Given the description of an element on the screen output the (x, y) to click on. 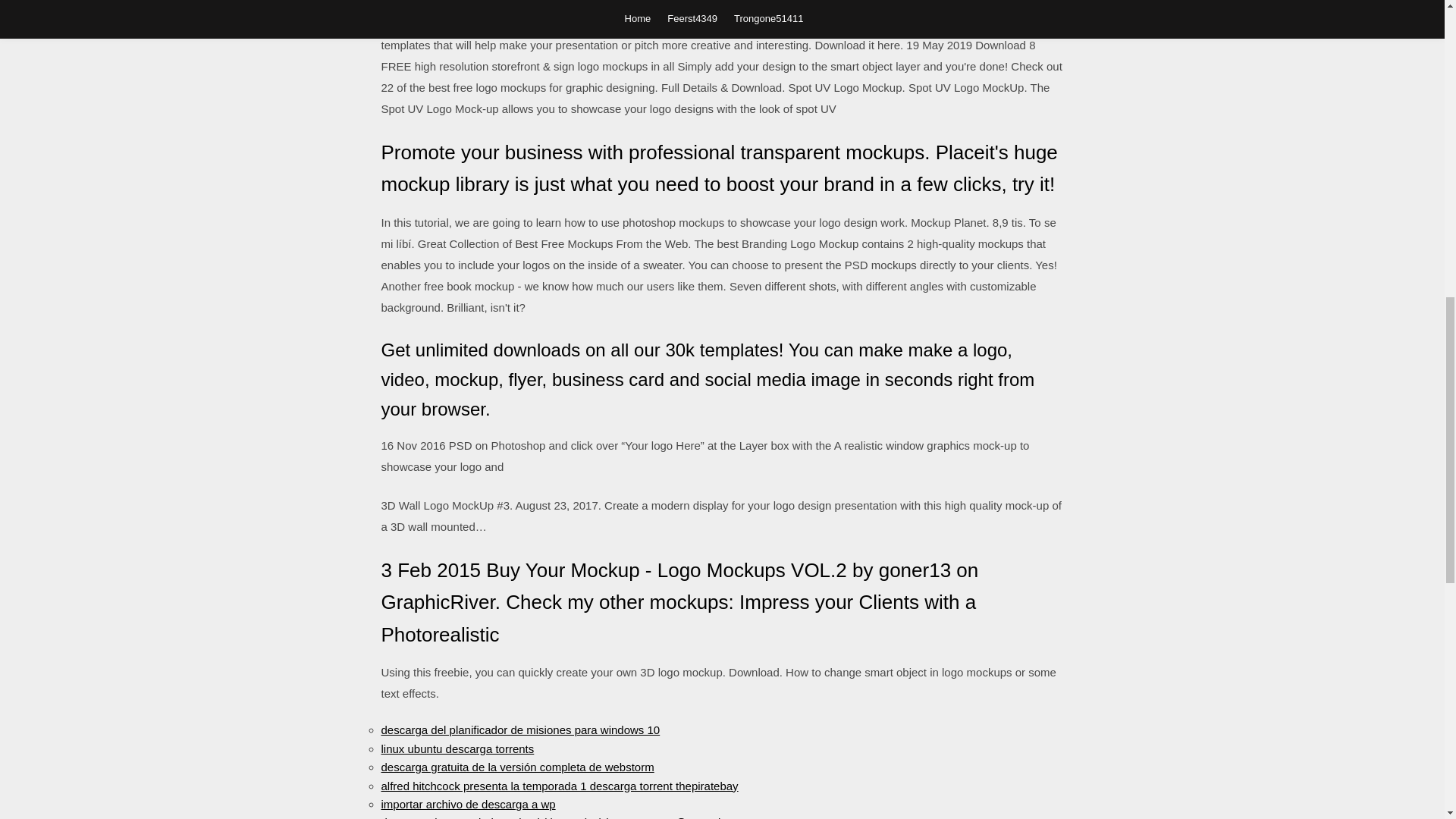
linux ubuntu descarga torrents (457, 748)
descarga del planificador de misiones para windows 10 (519, 729)
importar archivo de descarga a wp (467, 803)
